Given the description of an element on the screen output the (x, y) to click on. 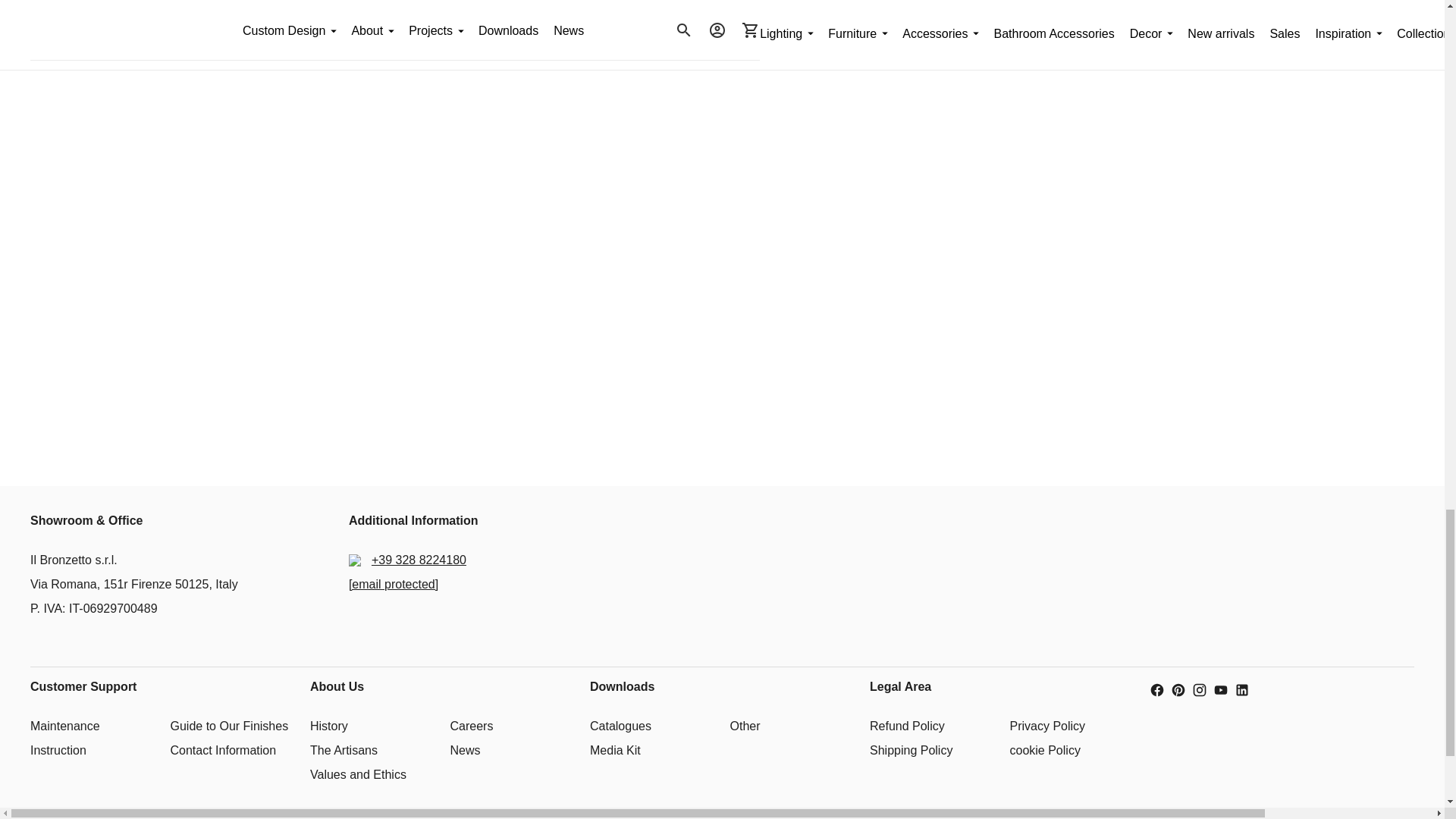
ilbronzetto on LinkedIn (1241, 689)
ilbronzetto on Instagram (1199, 689)
ilbronzetto on Facebook (1157, 689)
ilbronzetto on Pinterest (1178, 689)
ilbronzetto on YouTube (1220, 689)
